Given the description of an element on the screen output the (x, y) to click on. 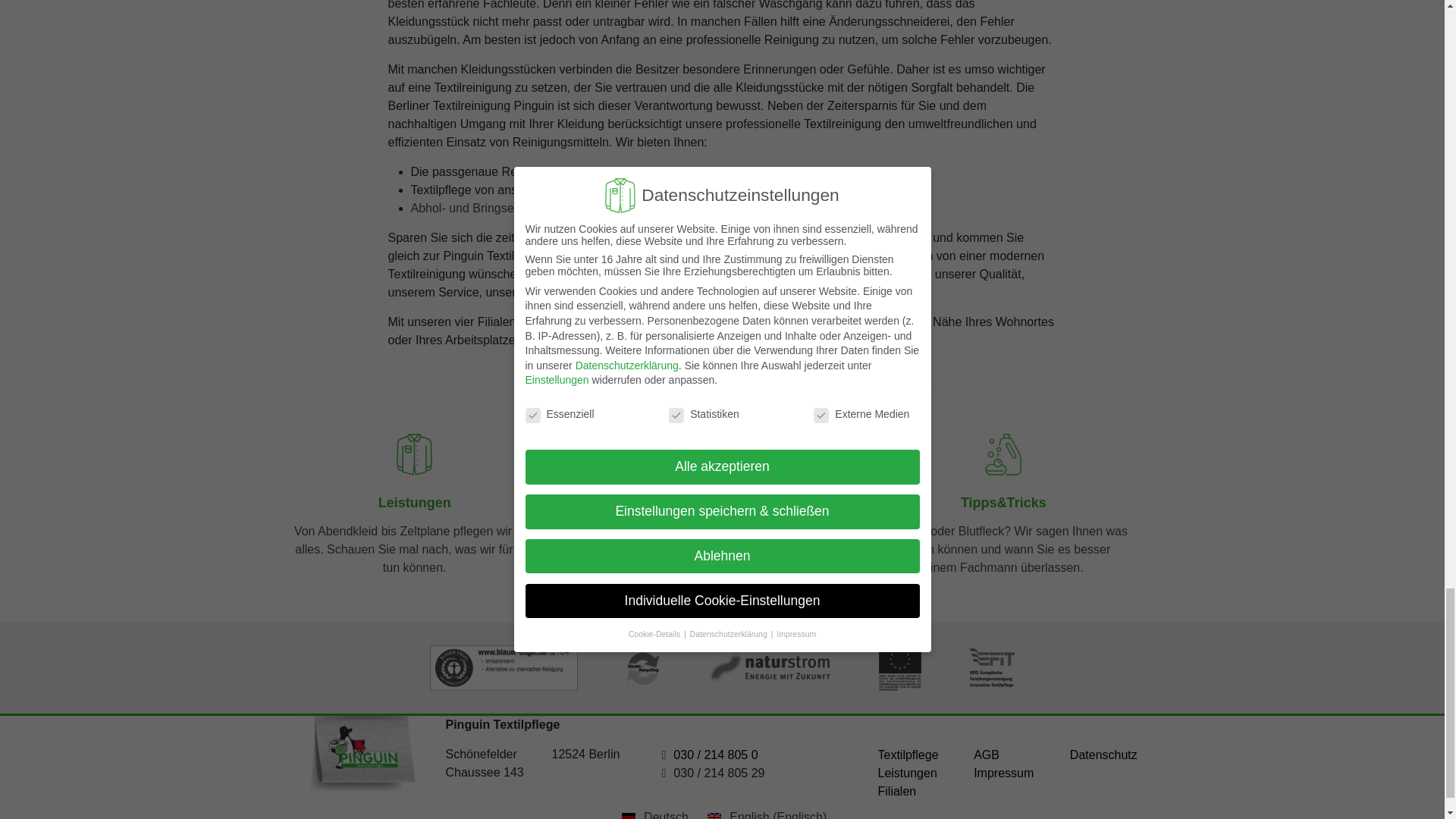
AGB (986, 754)
Textilpflege Leistungen (908, 763)
Filialen (897, 790)
Impressum (1003, 772)
Datenschutz (1103, 754)
Jetzt anrufen (714, 754)
